Given the description of an element on the screen output the (x, y) to click on. 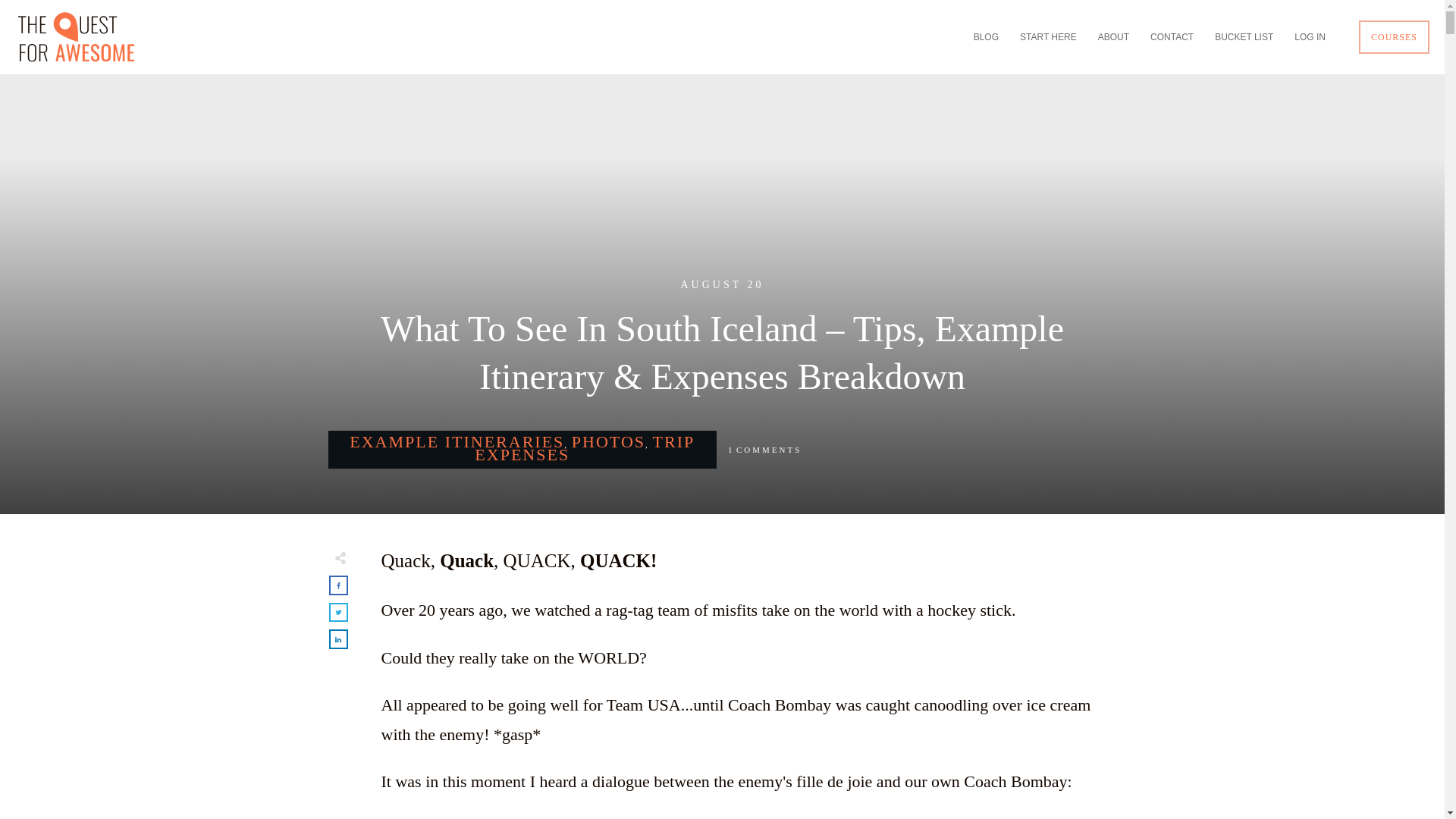
Trip Expenses (584, 448)
COURSES (1393, 36)
EXAMPLE ITINERARIES (456, 441)
CONTACT (1171, 36)
LOG IN (1309, 36)
Example Itineraries (456, 441)
ABOUT (1113, 36)
START HERE (1048, 36)
BLOG (986, 36)
TRIP EXPENSES (584, 448)
PHOTOS (608, 441)
Photos (608, 441)
BUCKET LIST (1243, 36)
